Given the description of an element on the screen output the (x, y) to click on. 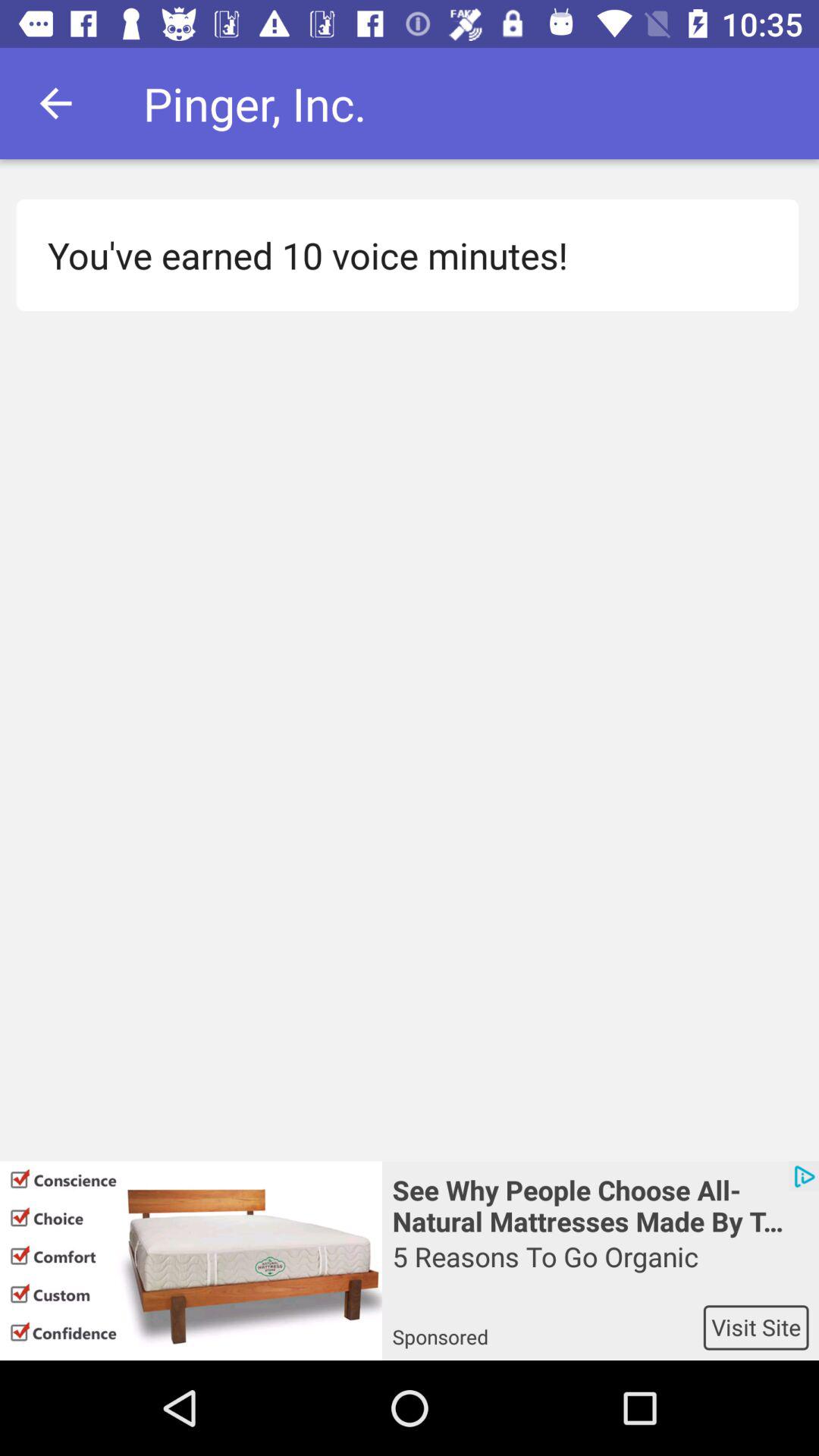
turn off the item above the sponsored (600, 1271)
